Given the description of an element on the screen output the (x, y) to click on. 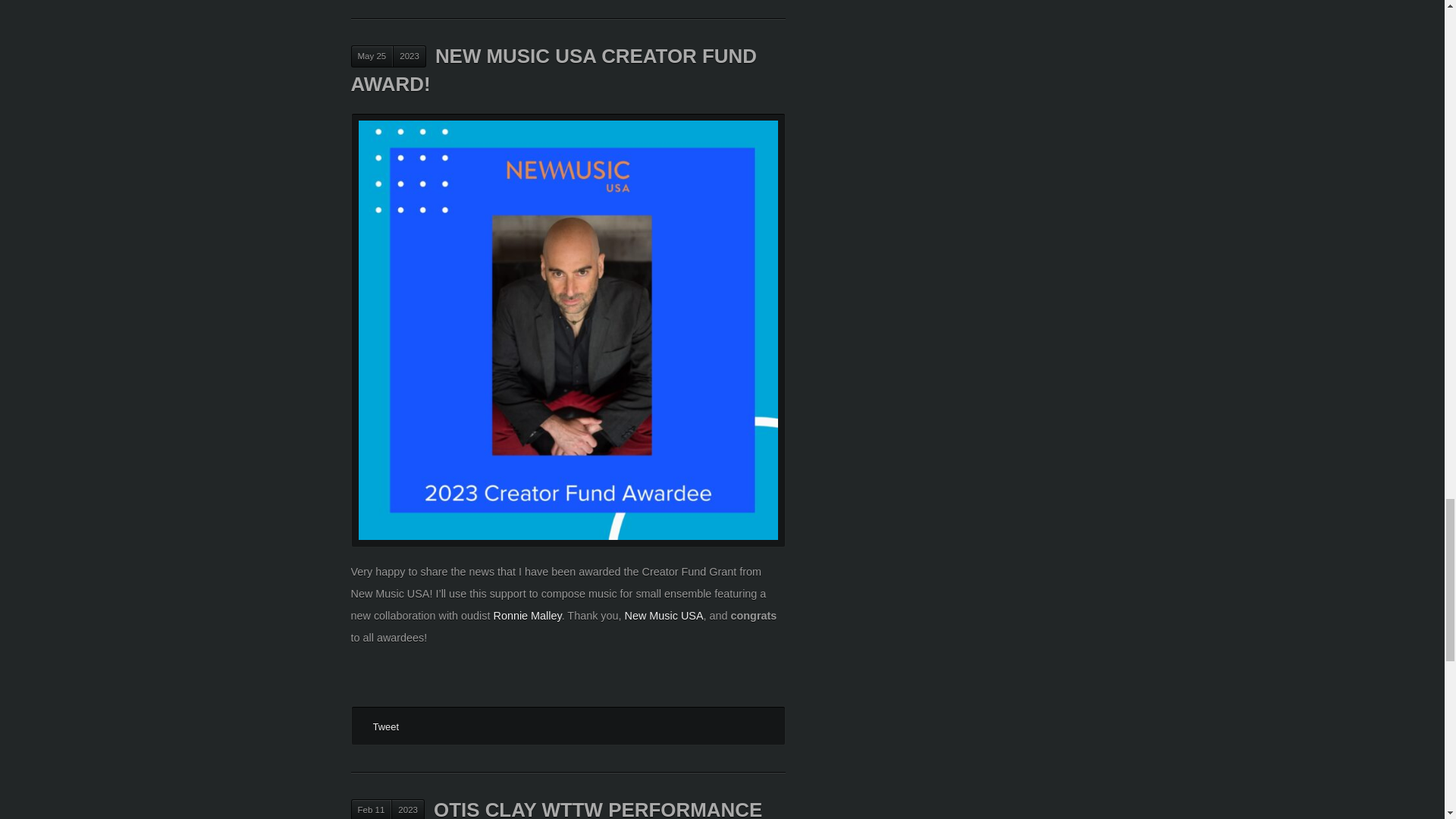
OTIS CLAY WTTW PERFORMANCE (597, 809)
New Music USA (663, 615)
Tweet (385, 726)
Ronnie Malley (526, 615)
NEW MUSIC USA CREATOR FUND AWARD! (552, 69)
